Given the description of an element on the screen output the (x, y) to click on. 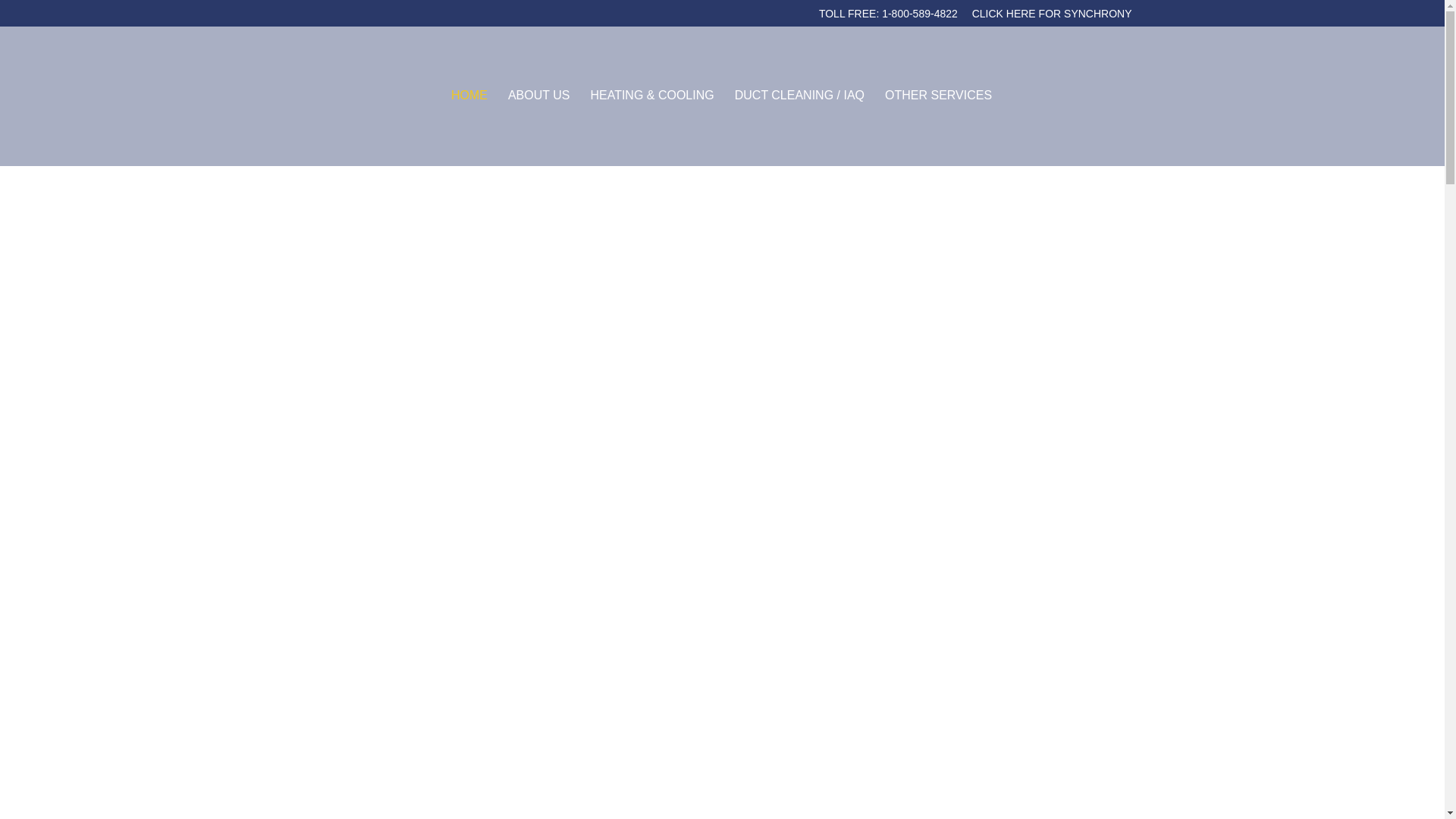
OTHER SERVICES (938, 128)
TOLL FREE: 1-800-589-4822 (888, 16)
CLICK HERE FOR SYNCHRONY (1052, 16)
